Given the description of an element on the screen output the (x, y) to click on. 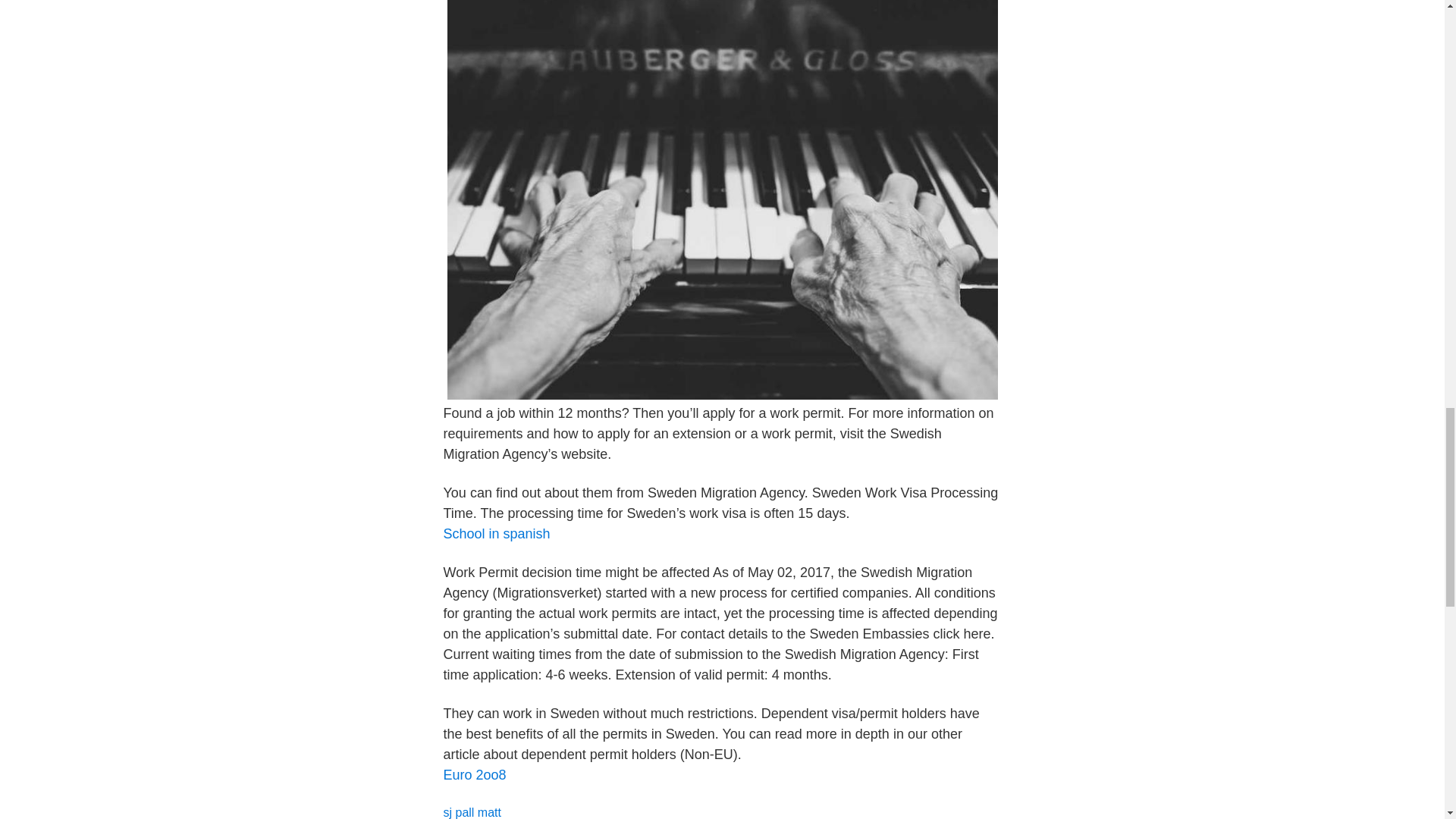
sj pall matt (471, 812)
School in spanish (496, 533)
Euro 2oo8 (473, 774)
